Given the description of an element on the screen output the (x, y) to click on. 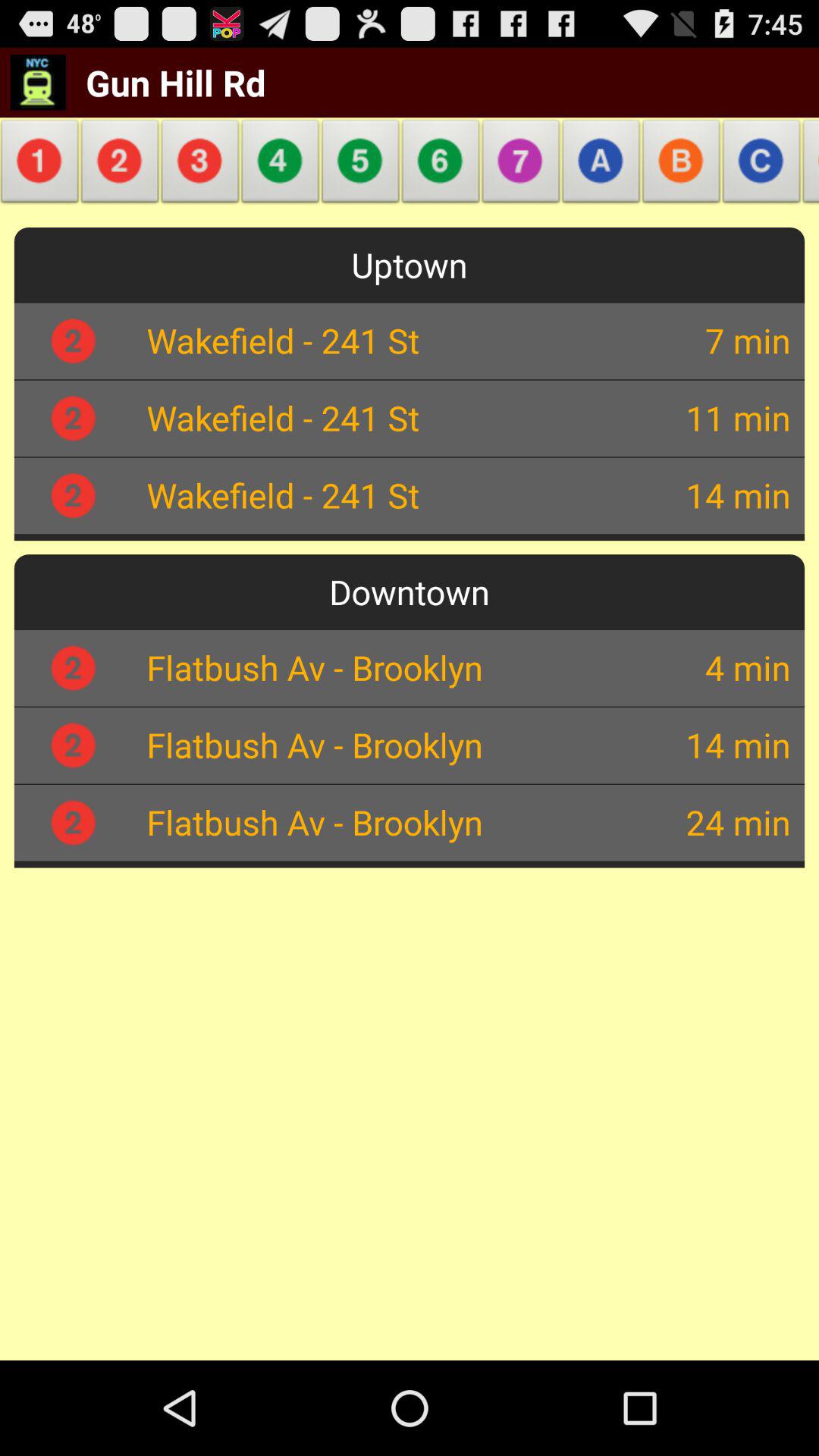
choose icon below the gun hill rd app (120, 165)
